Given the description of an element on the screen output the (x, y) to click on. 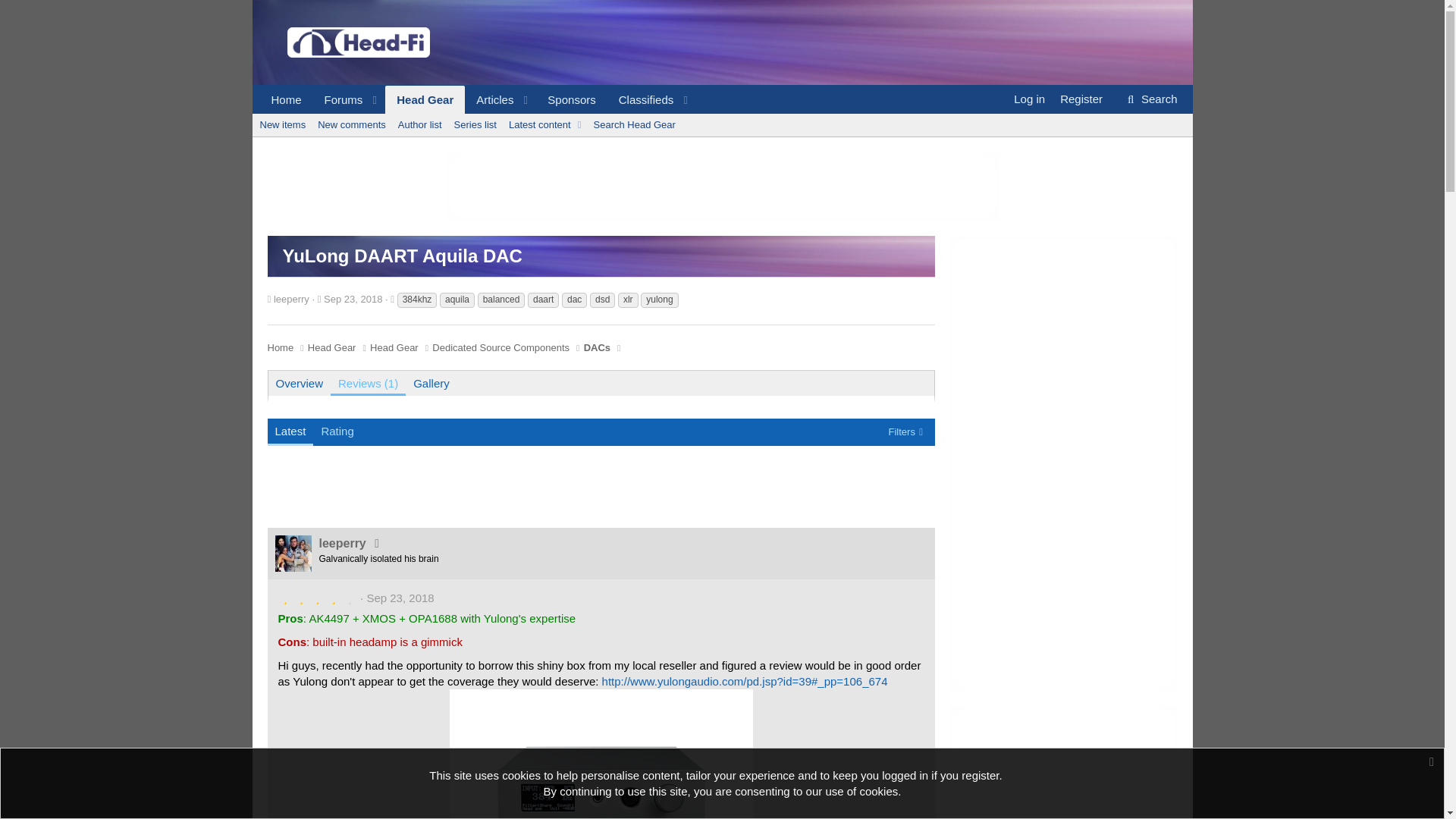
Latest Rating (313, 448)
Search (1150, 99)
Classifieds (641, 99)
3rd party ad content (721, 186)
Head Gear (424, 99)
Search (1150, 99)
Sep 23, 2018 at 9:42 AM (399, 597)
Send leeperry a private message (376, 543)
New items (282, 124)
3rd party ad content (1062, 762)
Author list (419, 124)
Home (477, 99)
Sponsors (286, 99)
